Given the description of an element on the screen output the (x, y) to click on. 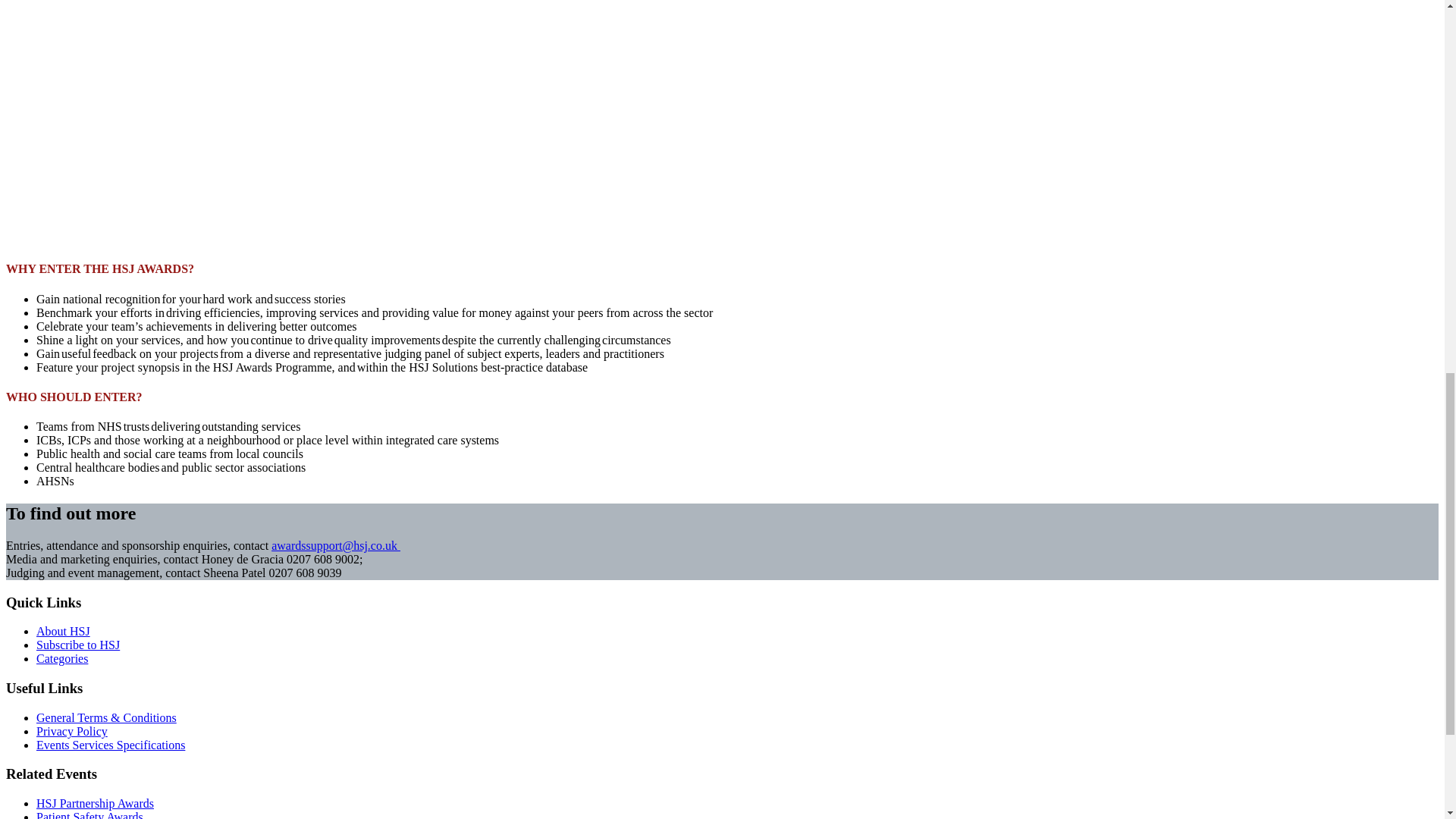
Privacy Policy (71, 730)
Events Services Specifications (110, 744)
HSJ Partnership Awards (95, 802)
Categories (61, 658)
Patient Safety Awards (89, 814)
Subscribe to HSJ (77, 644)
About HSJ (63, 631)
YouTube video player (217, 123)
